Given the description of an element on the screen output the (x, y) to click on. 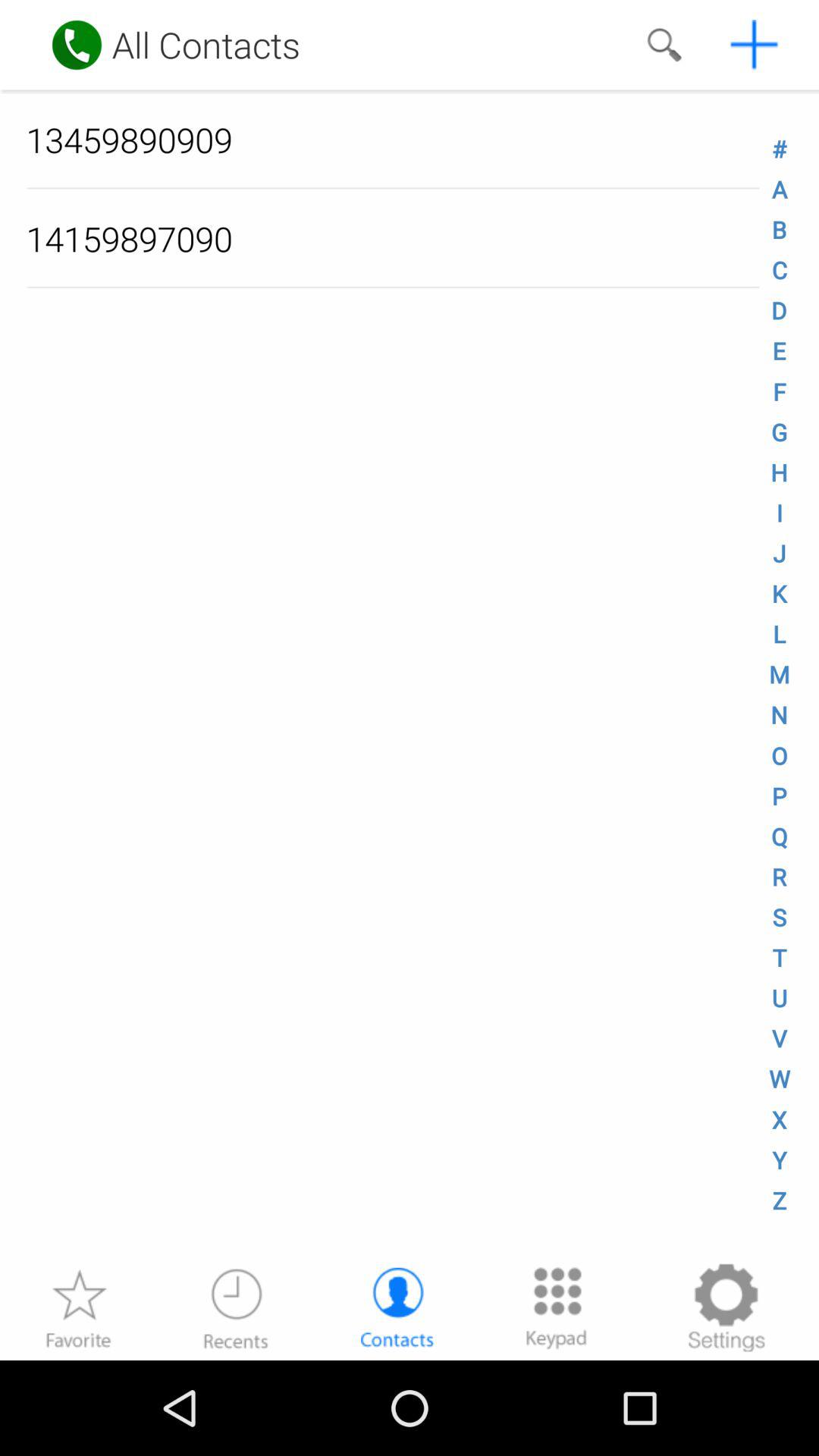
select contacts (397, 1307)
